Given the description of an element on the screen output the (x, y) to click on. 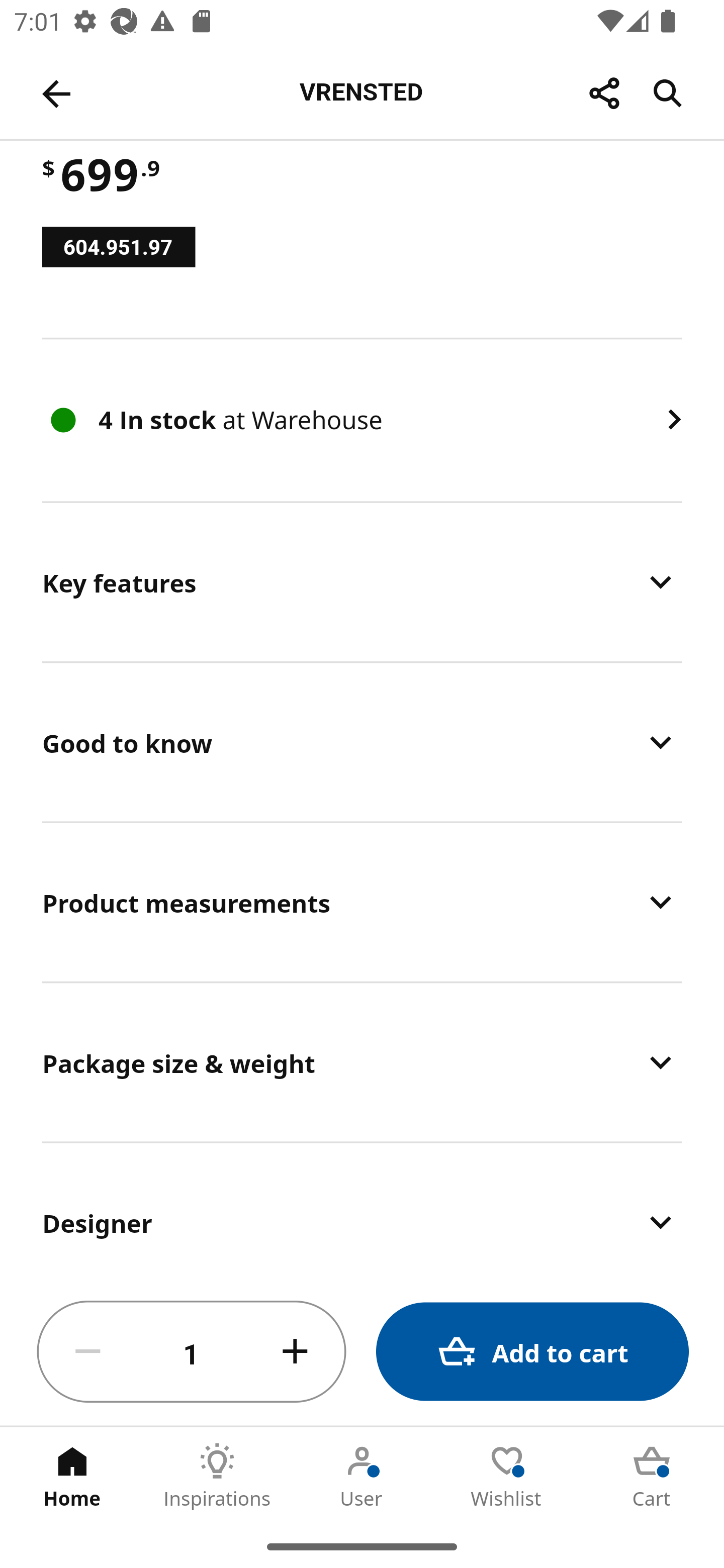
4 In stock at Warehouse (361, 419)
Key features (361, 582)
Good to know (361, 742)
Product measurements (361, 902)
Package size & weight (361, 1061)
Designer (361, 1210)
Add to cart (531, 1352)
1 (191, 1352)
Home
Tab 1 of 5 (72, 1476)
Inspirations
Tab 2 of 5 (216, 1476)
User
Tab 3 of 5 (361, 1476)
Wishlist
Tab 4 of 5 (506, 1476)
Cart
Tab 5 of 5 (651, 1476)
